Given the description of an element on the screen output the (x, y) to click on. 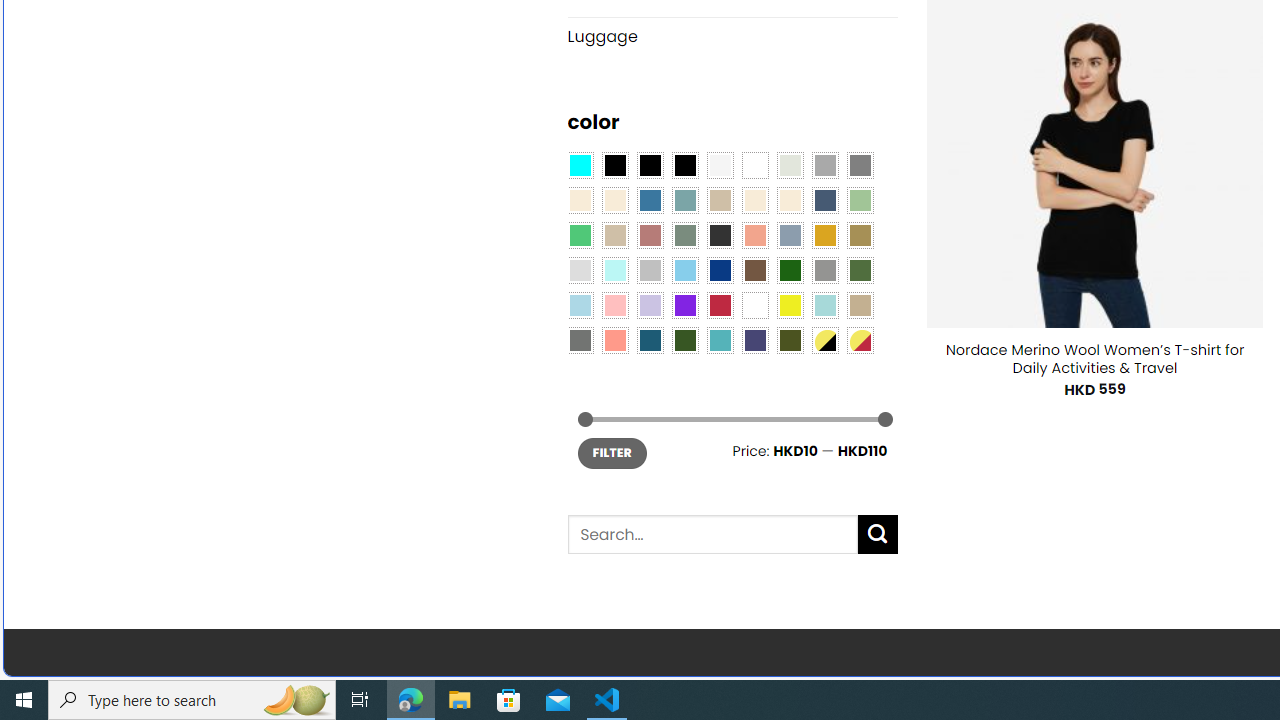
Navy Blue (719, 269)
All Gray (859, 164)
Gold (824, 234)
Luggage (732, 37)
Light Gray (579, 269)
Aqua Blue (579, 164)
Yellow (789, 305)
Light Green (859, 200)
Yellow-Black (824, 339)
FILTER (612, 452)
Light Taupe (614, 234)
Blue Sage (684, 200)
Aqua (824, 305)
Dark Gray (824, 164)
Search for: (712, 533)
